Given the description of an element on the screen output the (x, y) to click on. 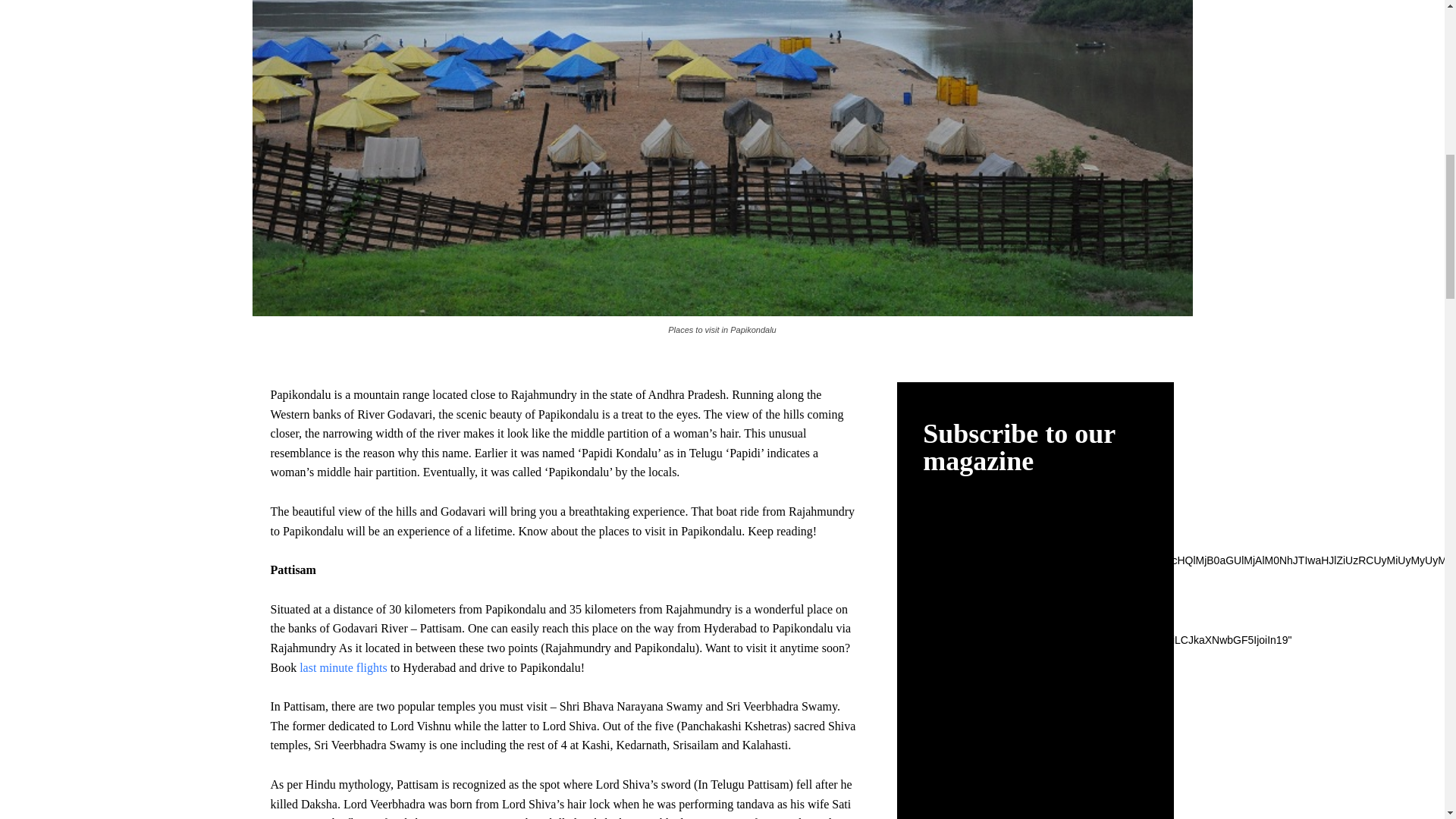
last minute flights (343, 667)
